Given the description of an element on the screen output the (x, y) to click on. 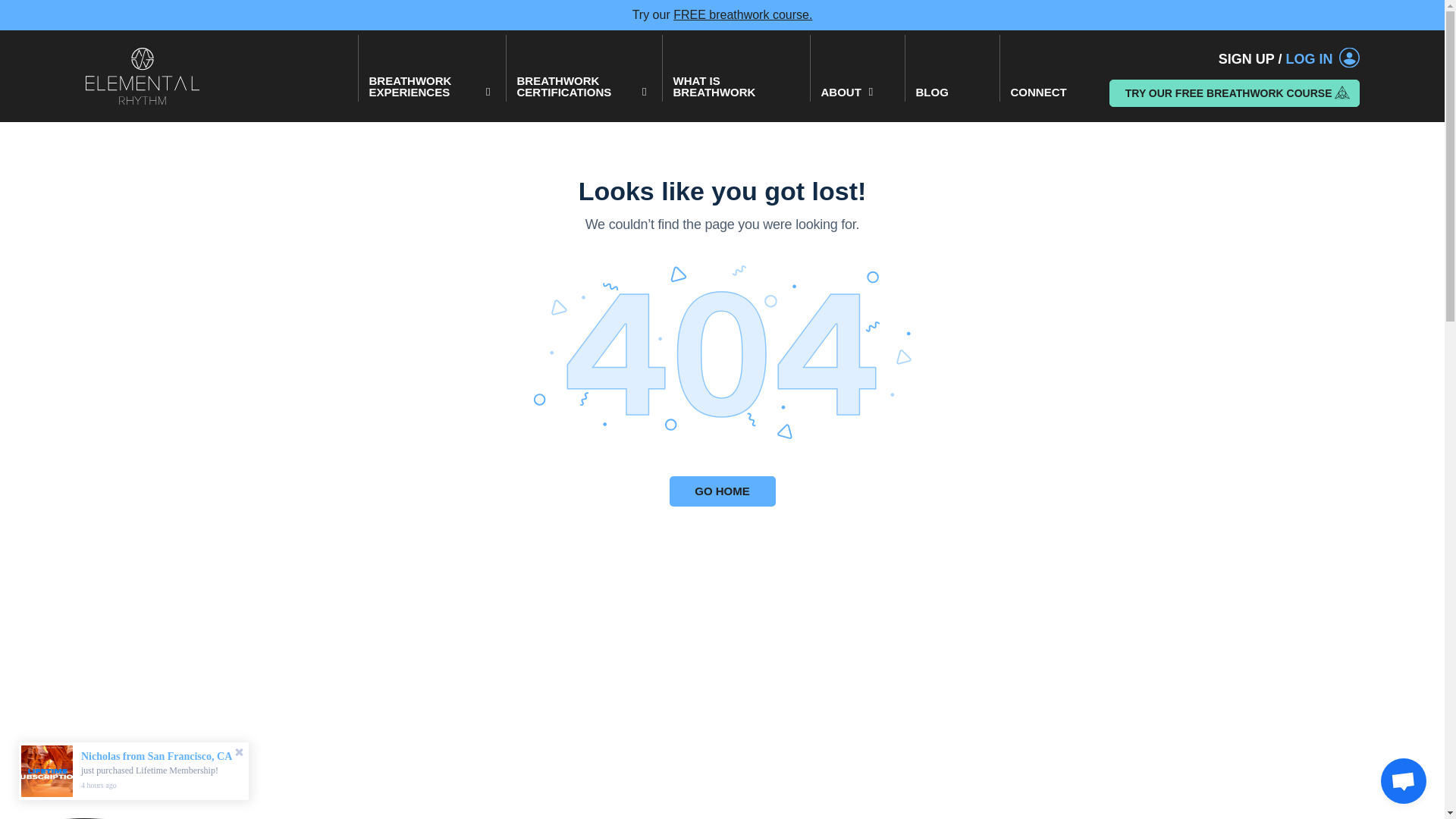
ABOUT (856, 83)
BREATHWORK CERTIFICATIONS (583, 83)
FREE breathwork course. (742, 10)
Close TrustPulse notification (238, 753)
WHAT IS BREATHWORK (735, 83)
BREATHWORK EXPERIENCES (431, 83)
